Given the description of an element on the screen output the (x, y) to click on. 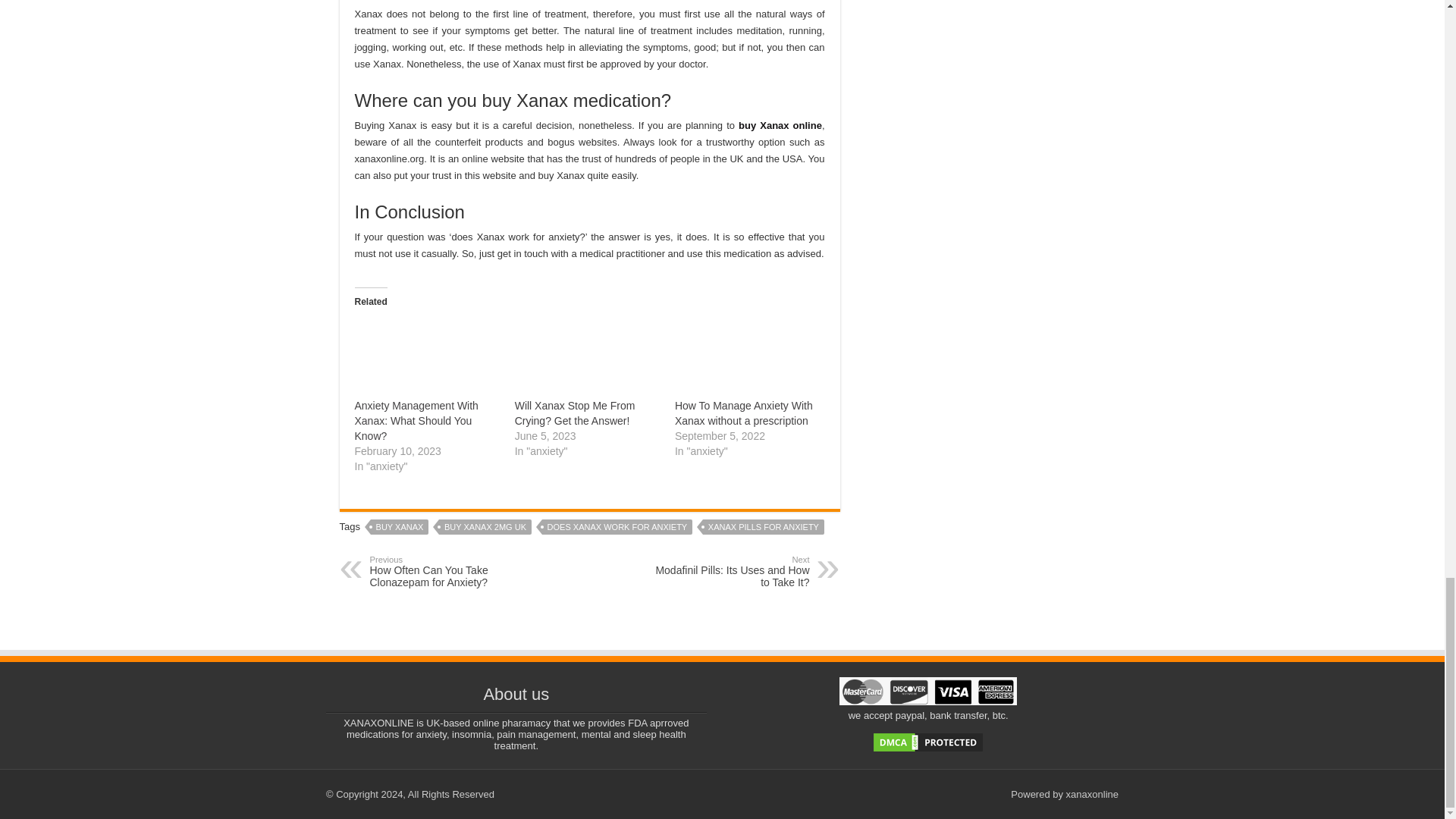
Anxiety Management With Xanax: What Should You Know? (417, 420)
How To Manage Anxiety With Xanax without a prescription (747, 356)
Anxiety Management With Xanax: What Should You Know? (427, 356)
Will Xanax Stop Me From Crying? Get the Answer! (574, 412)
How To Manage Anxiety With Xanax without a prescription (743, 412)
Will Xanax Stop Me From Crying? Get the Answer! (587, 356)
